Given the description of an element on the screen output the (x, y) to click on. 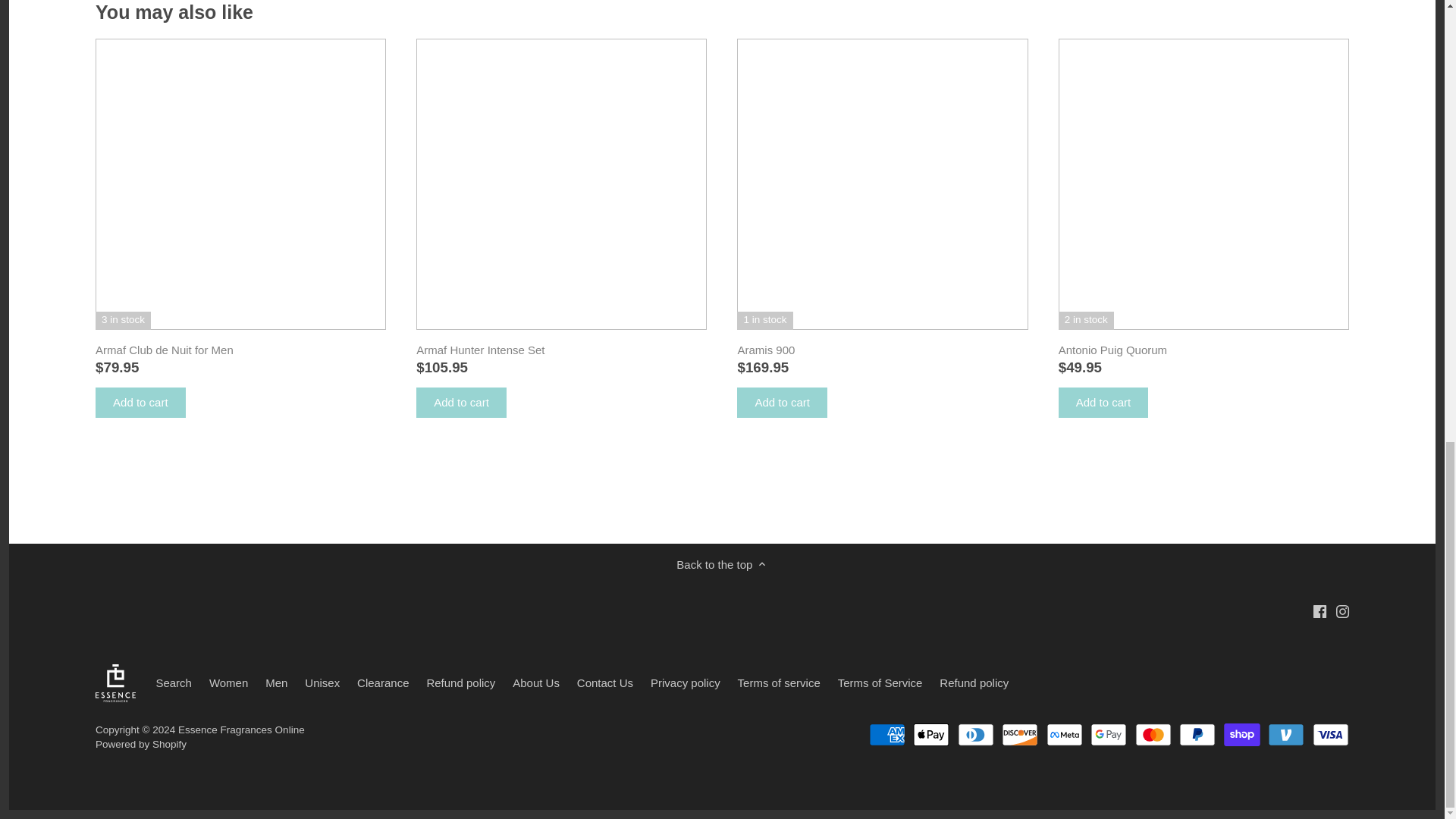
Facebook (1319, 611)
PayPal (1197, 734)
Add to cart (781, 402)
Add to cart (461, 402)
Armaf Hunter Intense Set (561, 349)
Google Pay (1108, 734)
Visa (1331, 734)
Add to cart (141, 402)
Discover (1019, 734)
Mastercard (1153, 734)
Shop Pay (1242, 734)
Armaf Club de Nuit for Men (240, 349)
Apple Pay (930, 734)
Meta Pay (1064, 734)
Venmo (1286, 734)
